Given the description of an element on the screen output the (x, y) to click on. 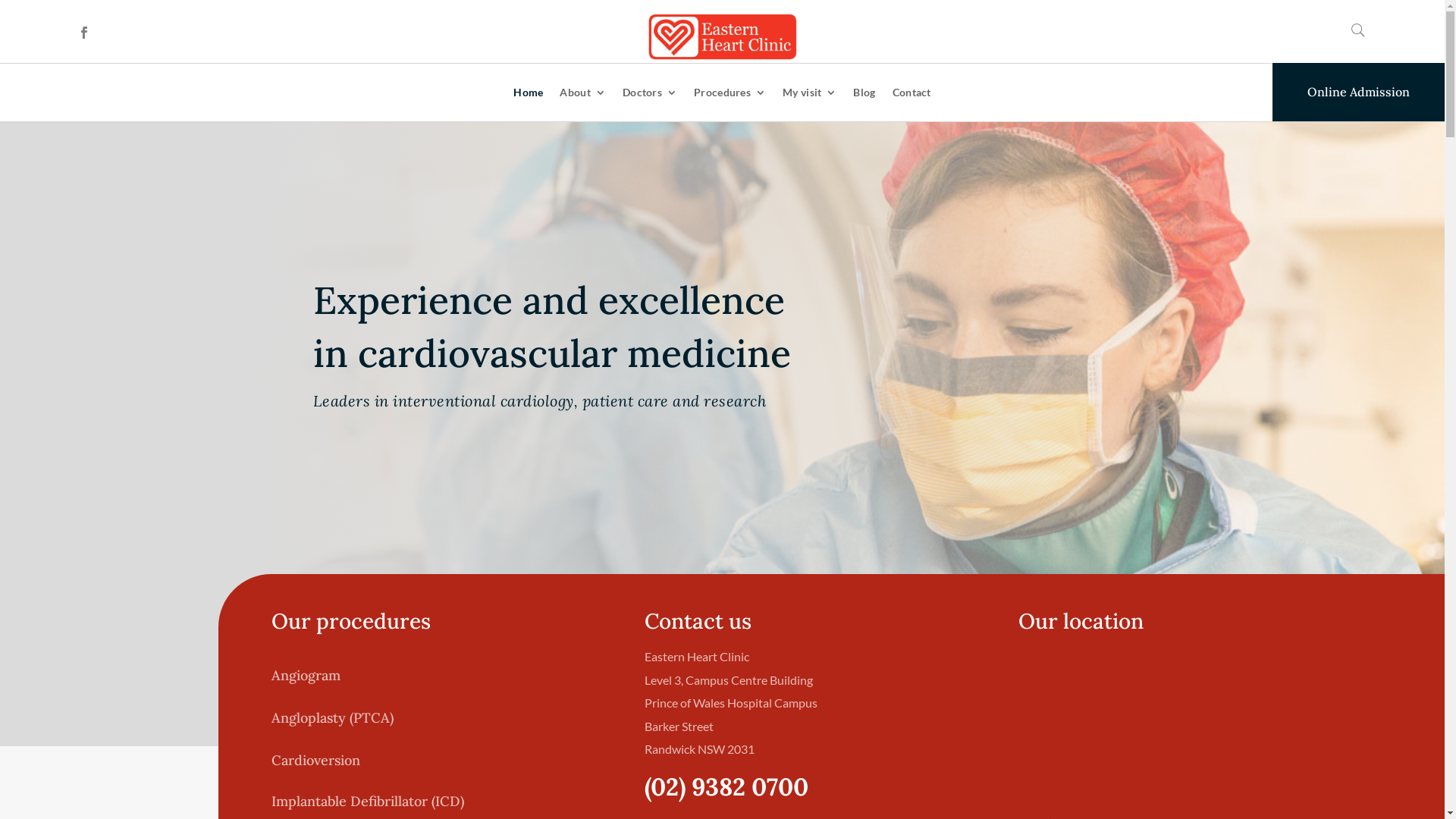
My visit Element type: text (809, 92)
Implantable Defibrillator (ICD) Element type: text (367, 800)
Procedures Element type: text (729, 92)
Online Admission Element type: text (1358, 91)
Follow on Facebook Element type: hover (84, 32)
Doctors Element type: text (649, 92)
Angiogram Element type: text (305, 675)
Blog Element type: text (864, 92)
Cardioversion Element type: text (315, 759)
(02) 9382 0700 Element type: text (726, 786)
About Element type: text (582, 92)
Angloplasty (PTCA) Element type: text (332, 717)
Contact Element type: text (911, 92)
Home Element type: text (527, 92)
